Given the description of an element on the screen output the (x, y) to click on. 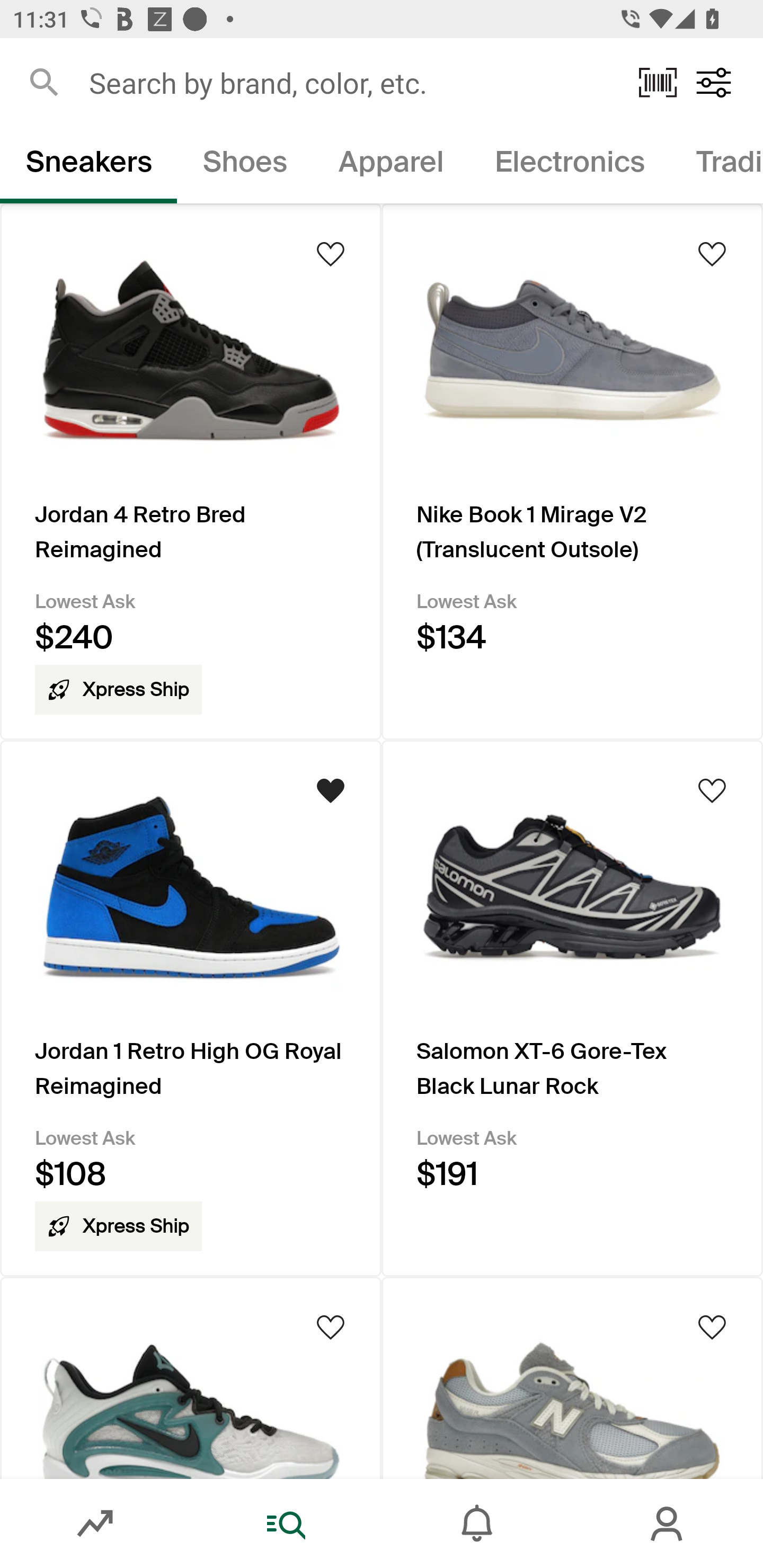
Search by brand, color, etc. (351, 82)
Shoes (244, 165)
Apparel (390, 165)
Electronics (569, 165)
Product Image (190, 1377)
Product Image (572, 1377)
Market (95, 1523)
Inbox (476, 1523)
Account (667, 1523)
